Given the description of an element on the screen output the (x, y) to click on. 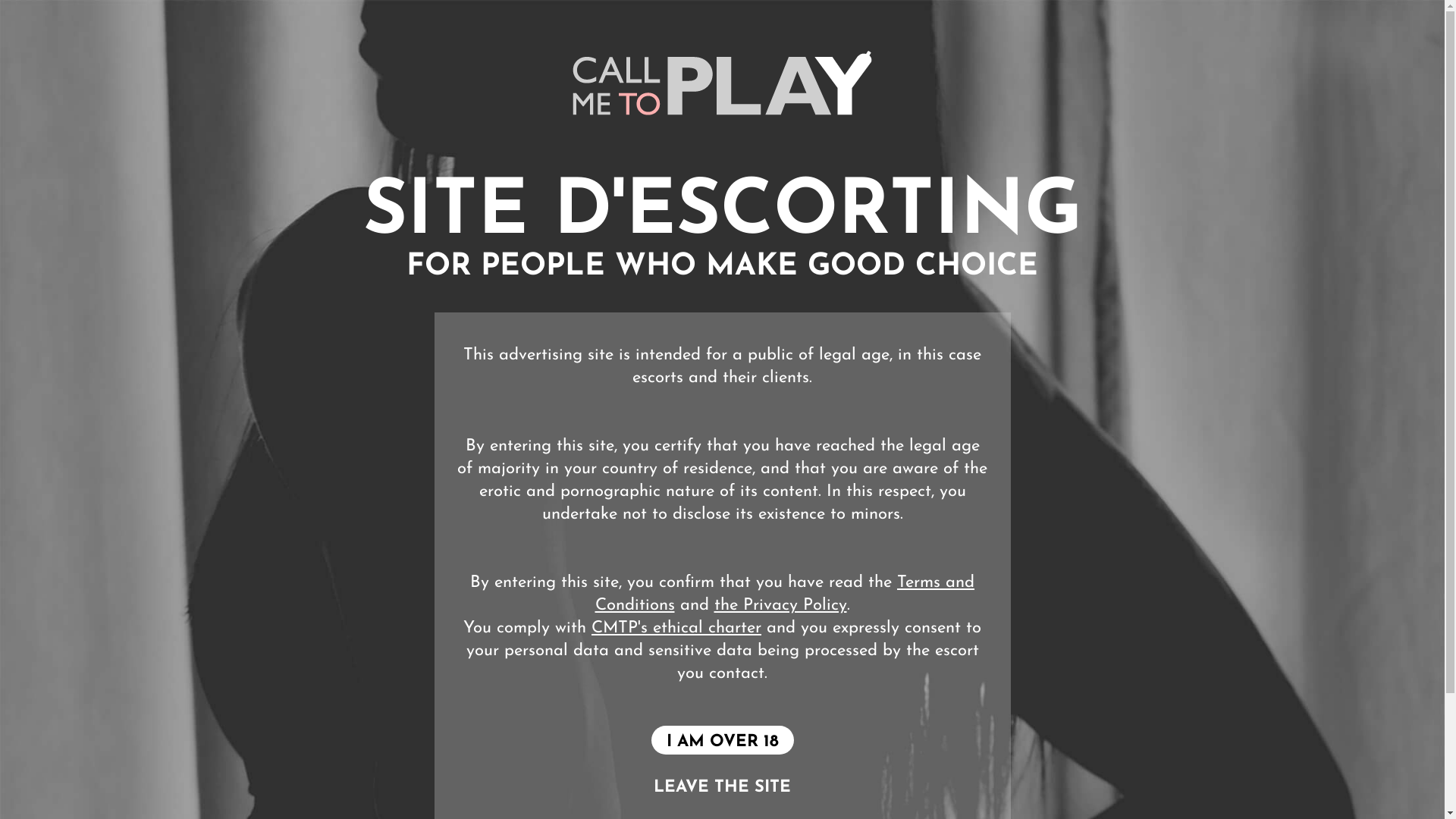
LEAVE THE SITE Element type: text (721, 787)
CMTP's ethical charter Element type: text (676, 628)
the Privacy Policy Element type: text (780, 605)
I AM OVER 18 Element type: text (721, 739)
Terms and Conditions Element type: text (784, 594)
